Given the description of an element on the screen output the (x, y) to click on. 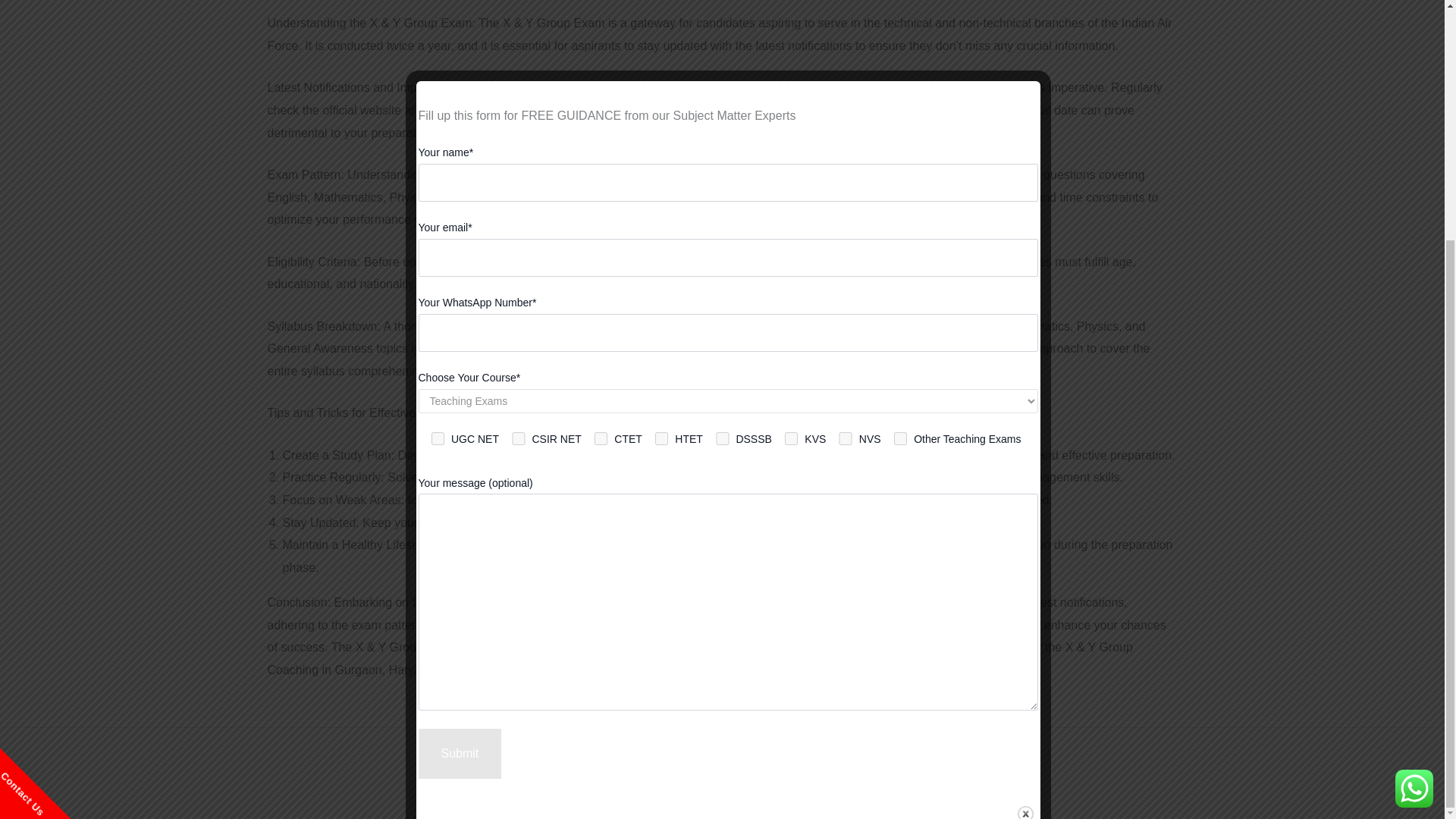
CSIR NET (518, 107)
Other Teaching Exams (900, 107)
DSSSB (722, 107)
HTET (661, 107)
KVS (791, 107)
NVS (845, 107)
UGC NET (437, 107)
Submit (460, 422)
CTET (601, 107)
Close (1025, 483)
